Given the description of an element on the screen output the (x, y) to click on. 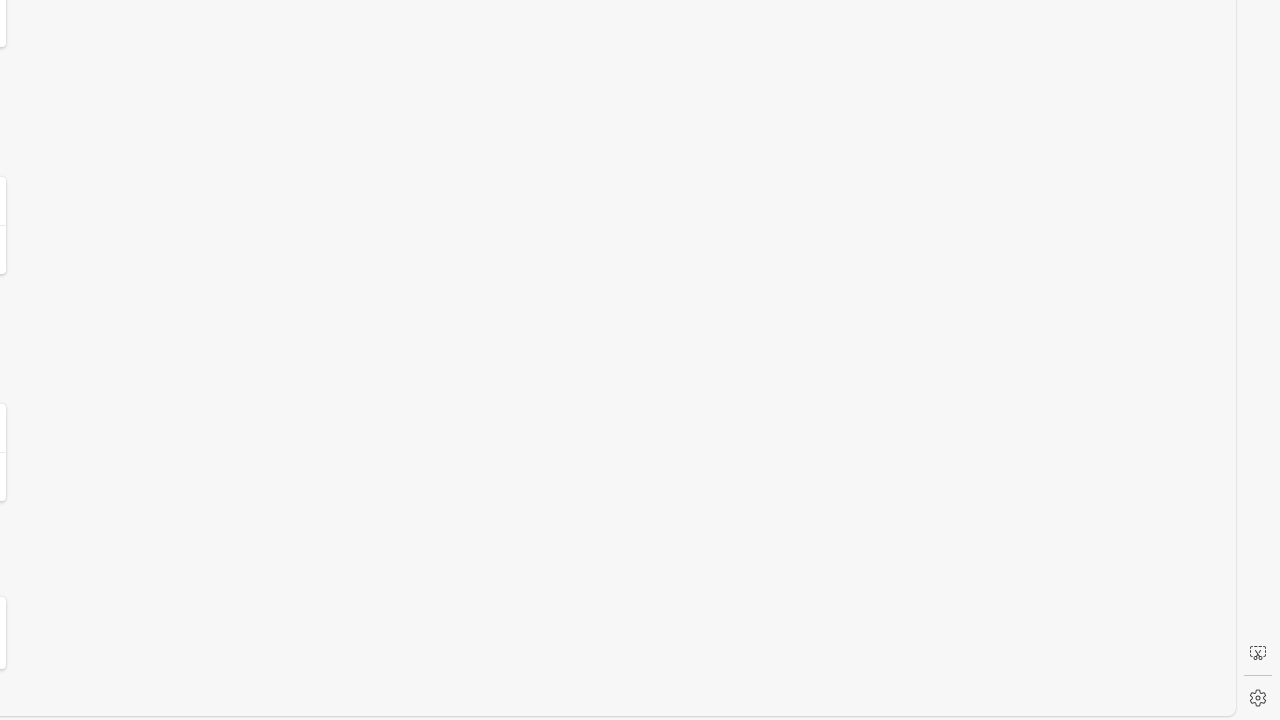
Screenshot Element type: push-button (1258, 653)
Settings Element type: push-button (1258, 698)
